Given the description of an element on the screen output the (x, y) to click on. 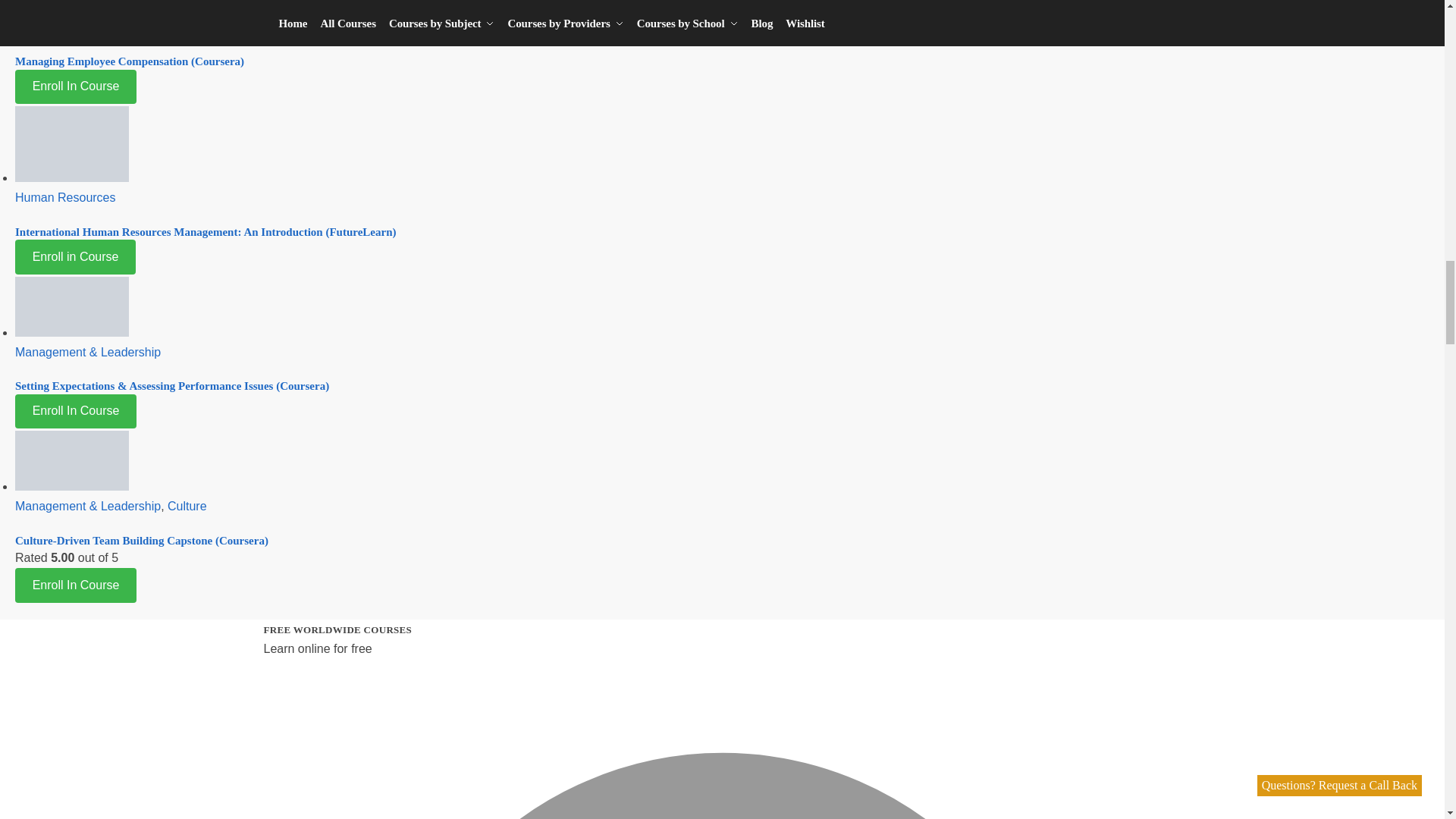
Managing Employee Compensation Coursera course (71, 6)
